Given the description of an element on the screen output the (x, y) to click on. 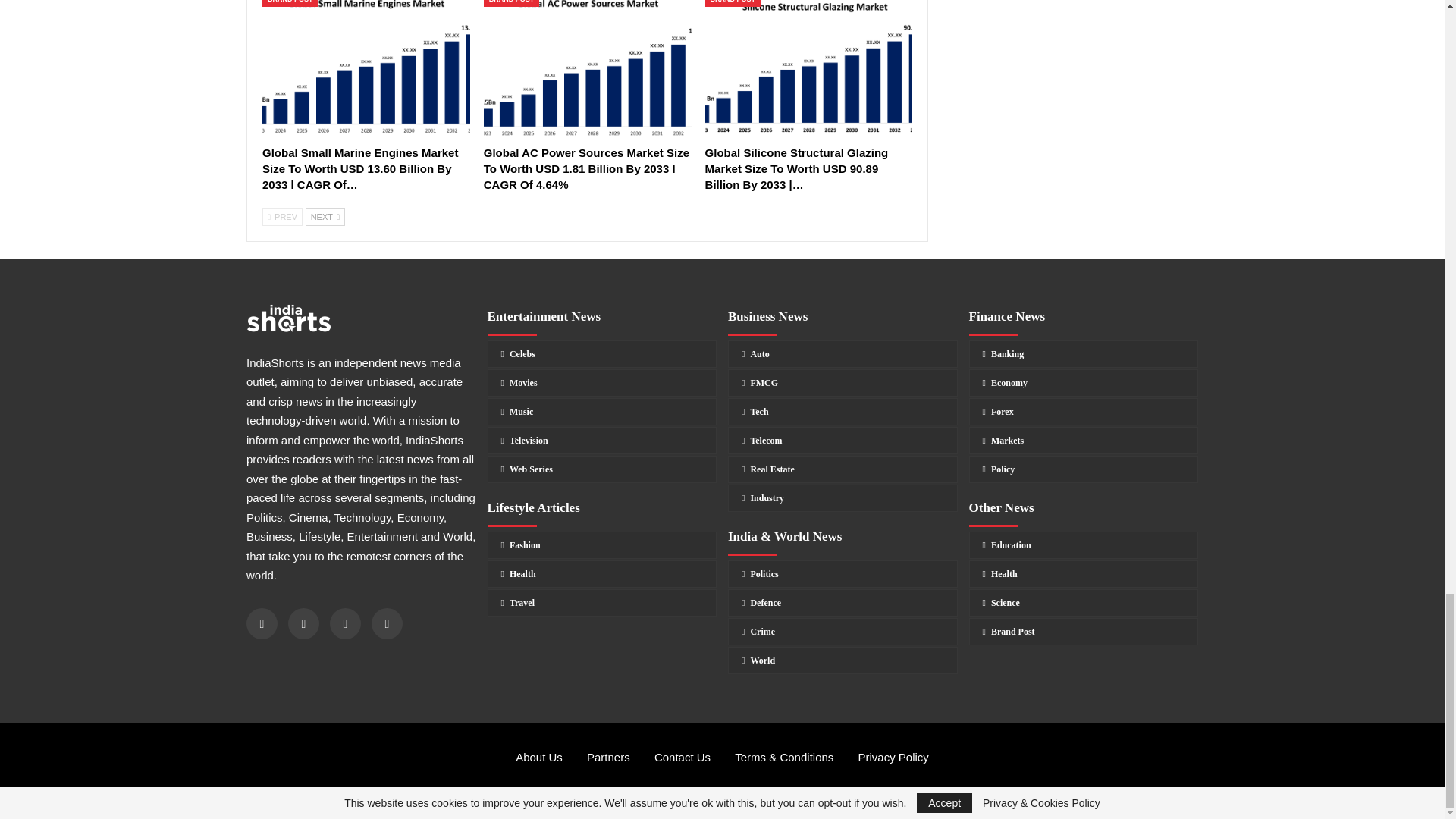
Next (325, 217)
Previous (282, 217)
